Given the description of an element on the screen output the (x, y) to click on. 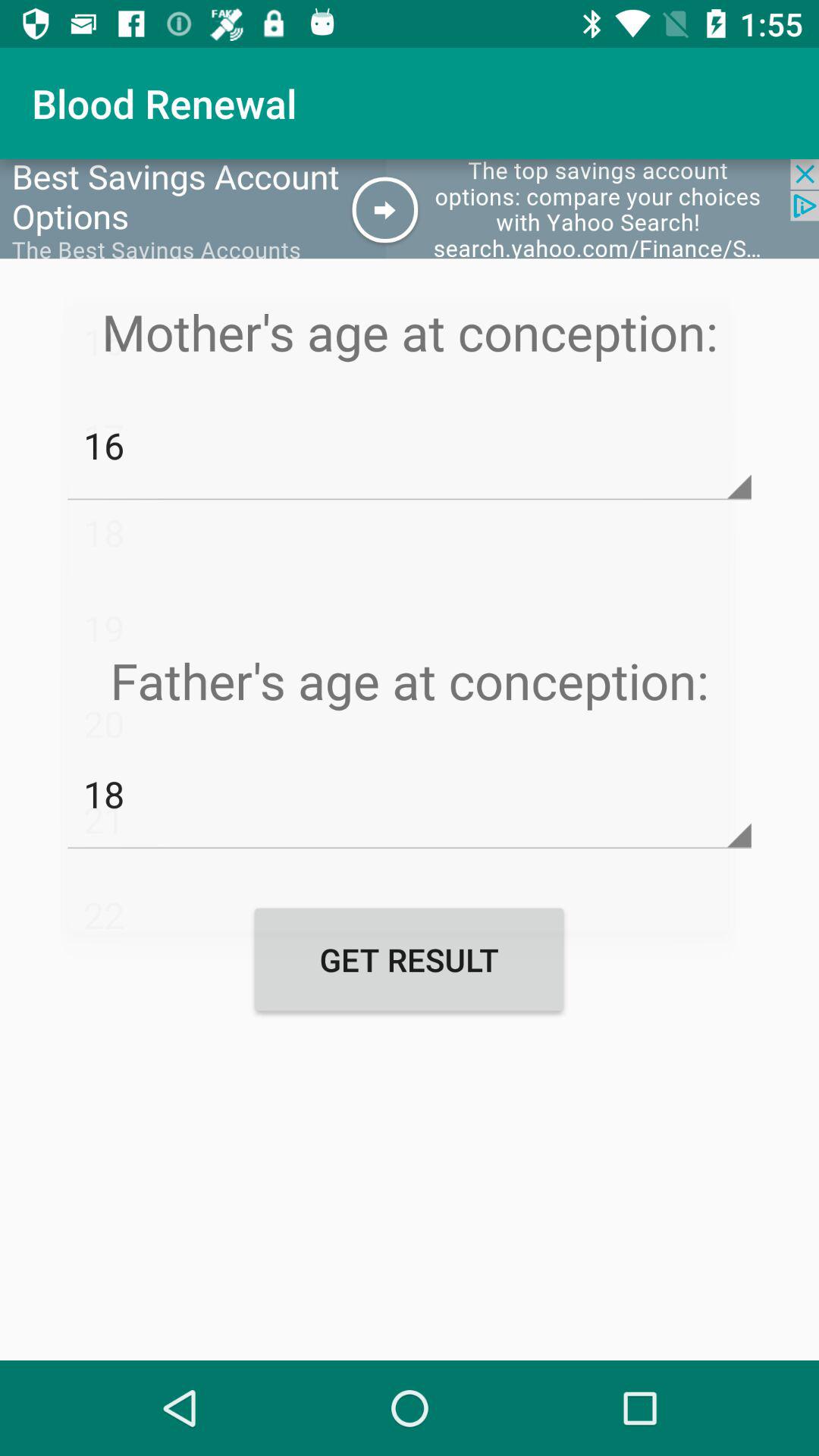
click item below 18 item (408, 959)
